Given the description of an element on the screen output the (x, y) to click on. 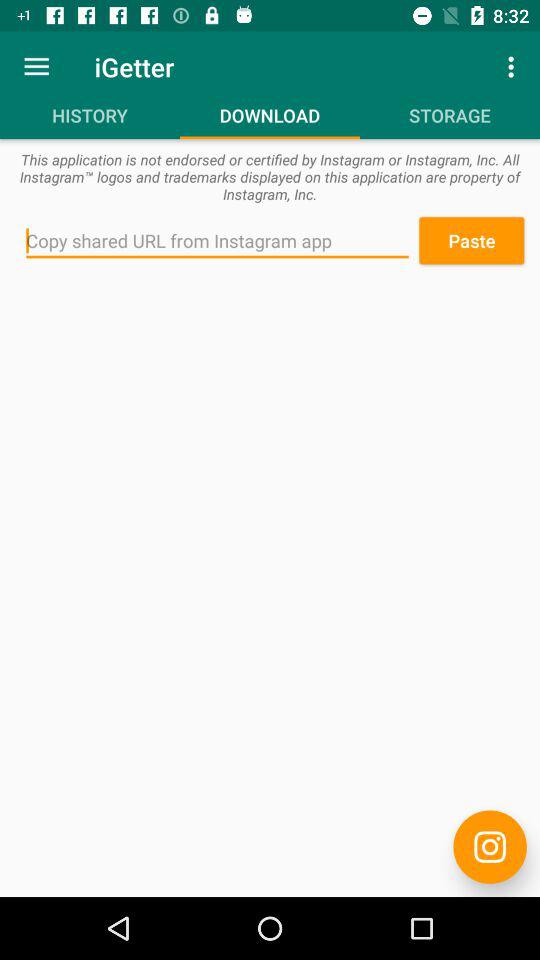
https (489, 846)
